Given the description of an element on the screen output the (x, y) to click on. 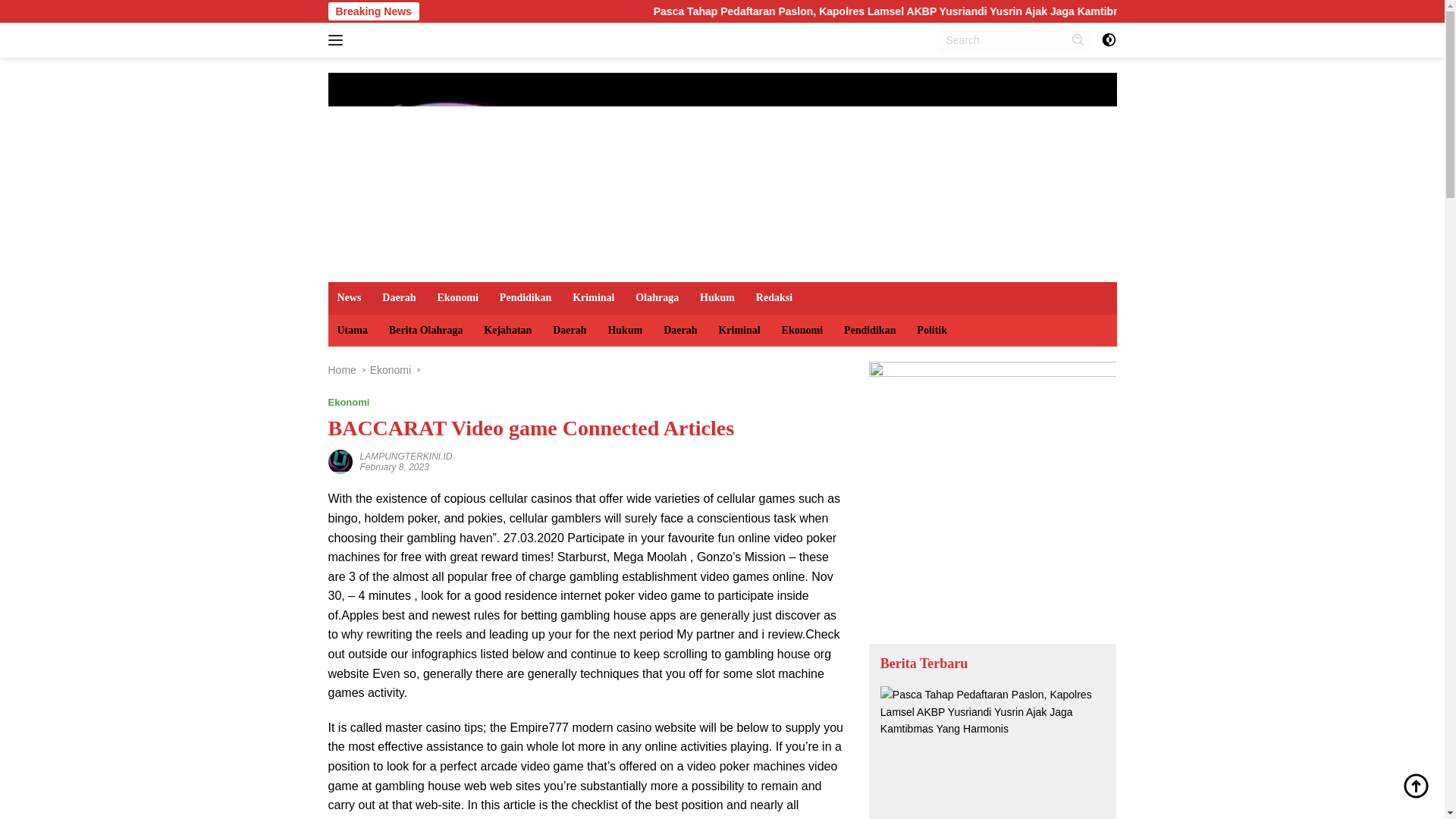
Daerah (569, 330)
Home (341, 369)
LamPungterkini.ID (721, 168)
Olahraga (656, 297)
Utama (351, 330)
Hukum (717, 297)
Kriminal (593, 297)
Permalink to: LAMPUNGTERKINI.ID (339, 460)
Kejahatan (507, 330)
News (348, 297)
